Given the description of an element on the screen output the (x, y) to click on. 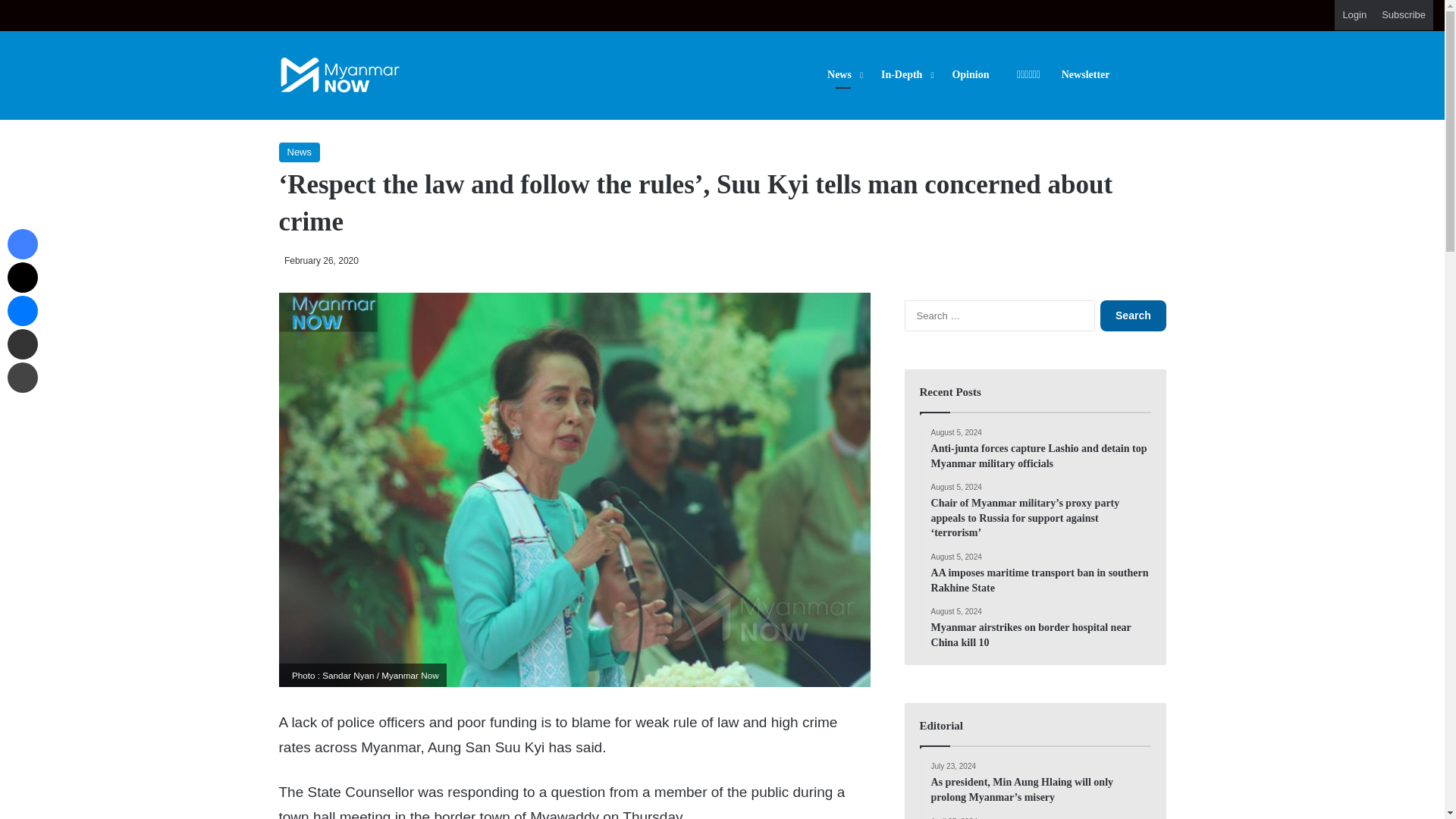
Newsletter (1086, 74)
Messenger (22, 310)
Myanmar Now (340, 75)
X (22, 277)
Facebook (22, 244)
Print (22, 377)
Search (1133, 315)
Login (1354, 15)
Search (1133, 315)
Search (1133, 315)
News (299, 152)
In-Depth (905, 74)
